Given the description of an element on the screen output the (x, y) to click on. 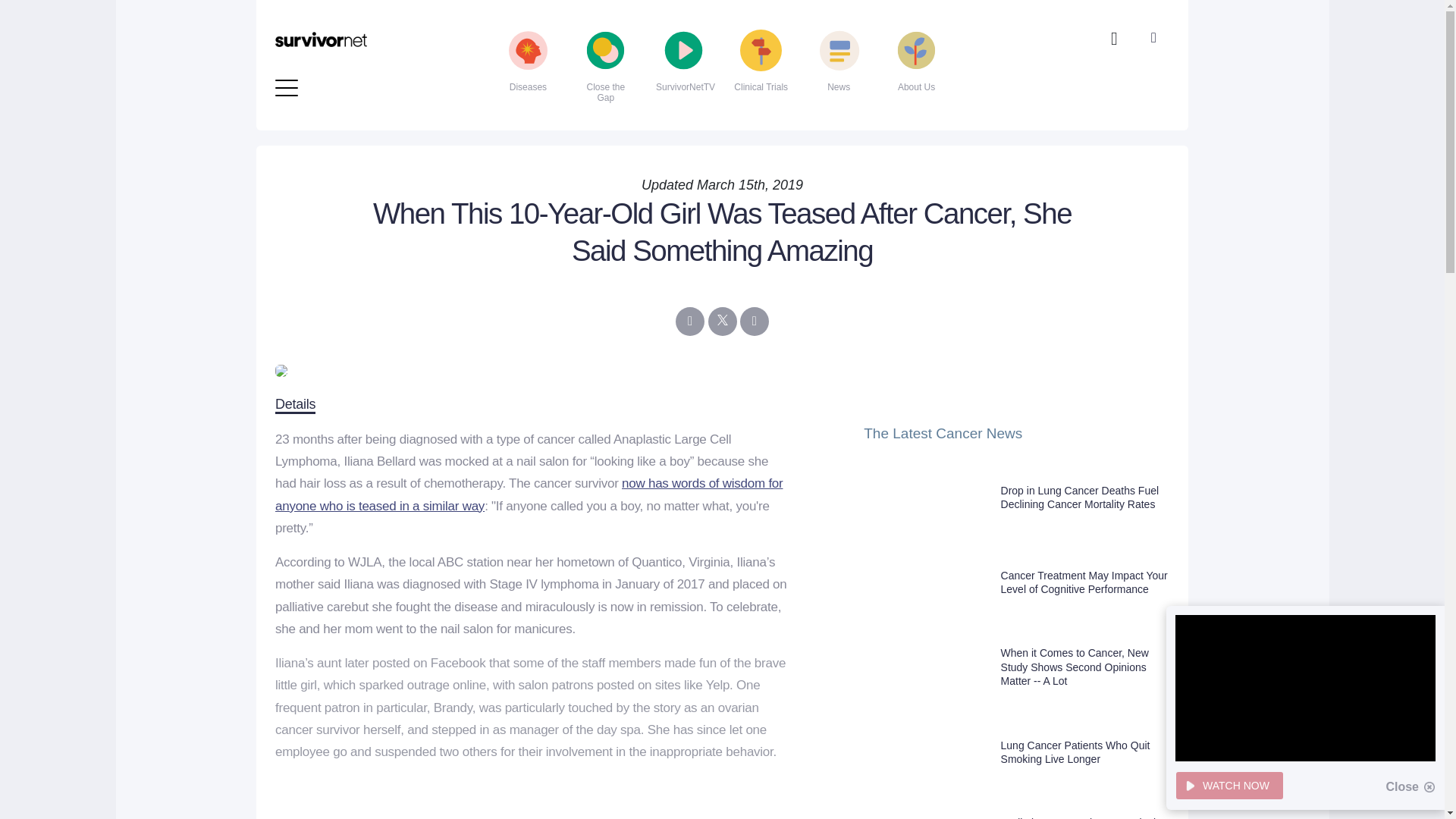
Psoriasis (661, 52)
Esophageal Cancer (364, 7)
Heart Failure (364, 28)
Prostate Cancer (661, 28)
Liver Cancer (364, 78)
Ovarian Cancer (661, 7)
